Given the description of an element on the screen output the (x, y) to click on. 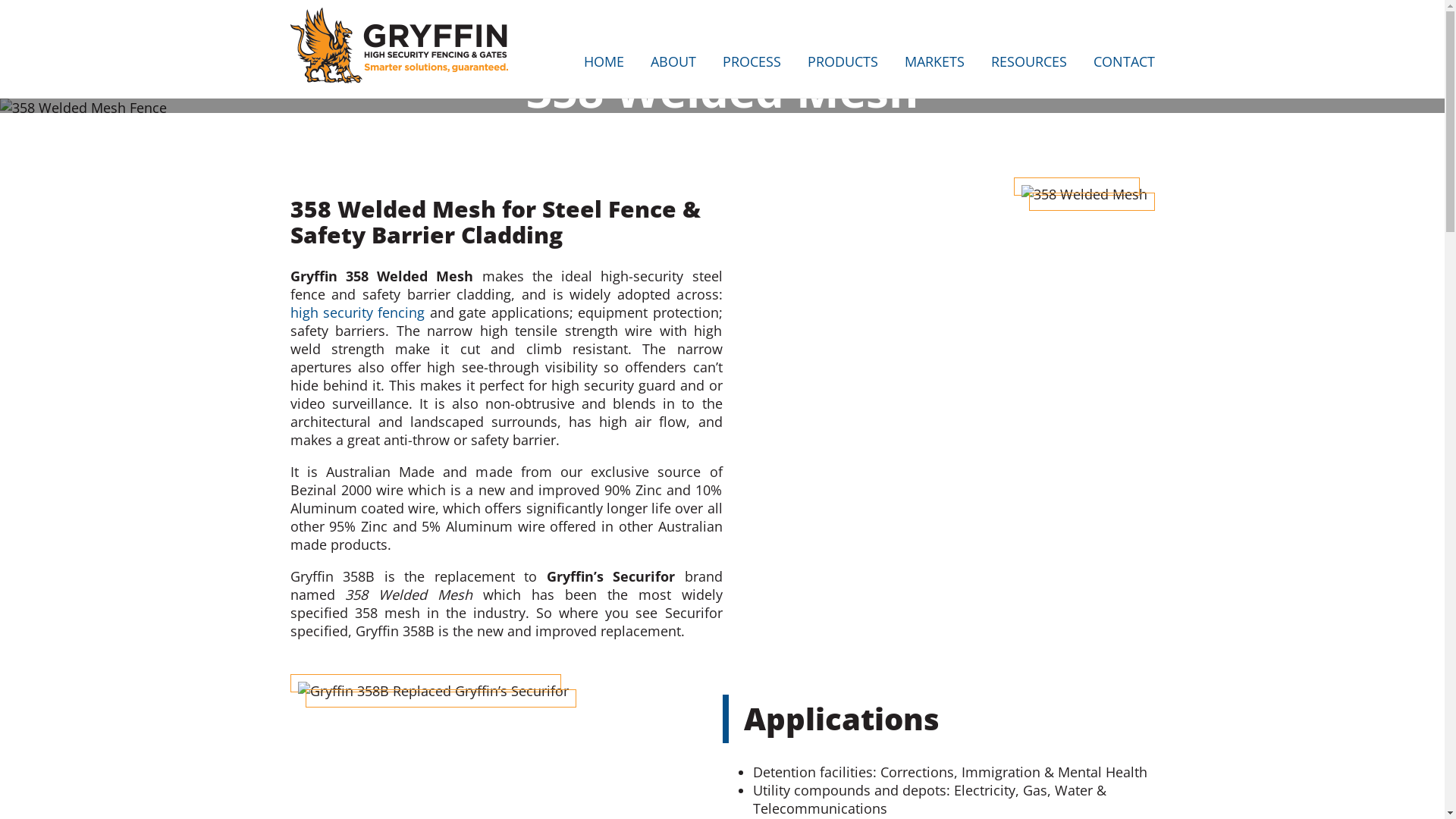
HOME Element type: text (603, 65)
MARKETS Element type: text (933, 65)
RESOURCES Element type: text (1028, 65)
PROCESS Element type: text (750, 65)
CONTACT Element type: text (1123, 65)
PRODUCTS Element type: text (841, 65)
high security fencing Element type: text (356, 312)
ABOUT Element type: text (673, 65)
